Given the description of an element on the screen output the (x, y) to click on. 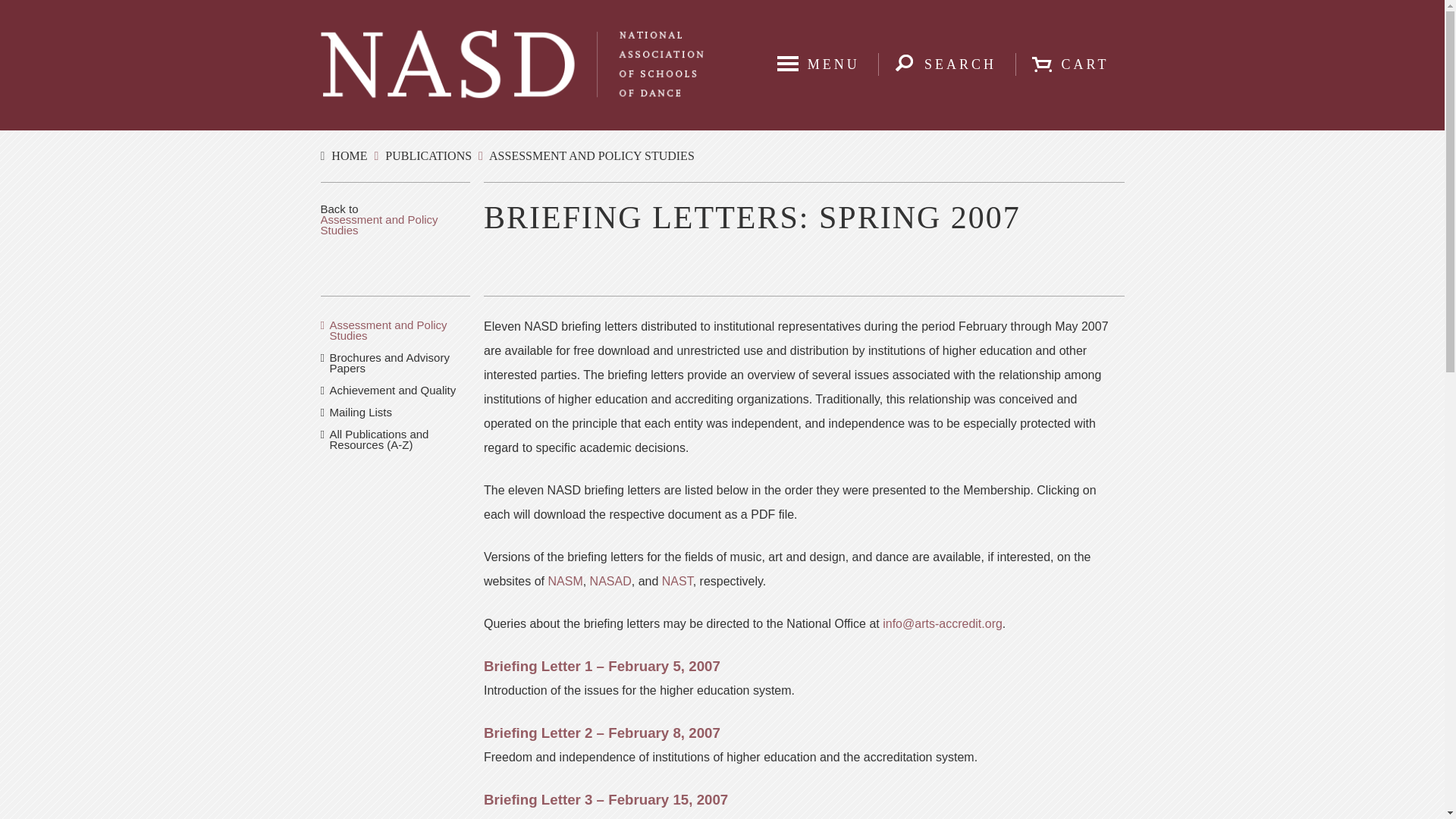
PUBLICATIONS (428, 155)
Achievement and Quality (392, 390)
SEARCH (944, 64)
Assessment and Policy Studies (387, 330)
CART (1069, 64)
Brochures and Advisory Papers (388, 362)
Assessment and Policy Studies (379, 224)
HOME (348, 155)
MENU (818, 64)
ASSESSMENT AND POLICY STUDIES (591, 155)
